Given the description of an element on the screen output the (x, y) to click on. 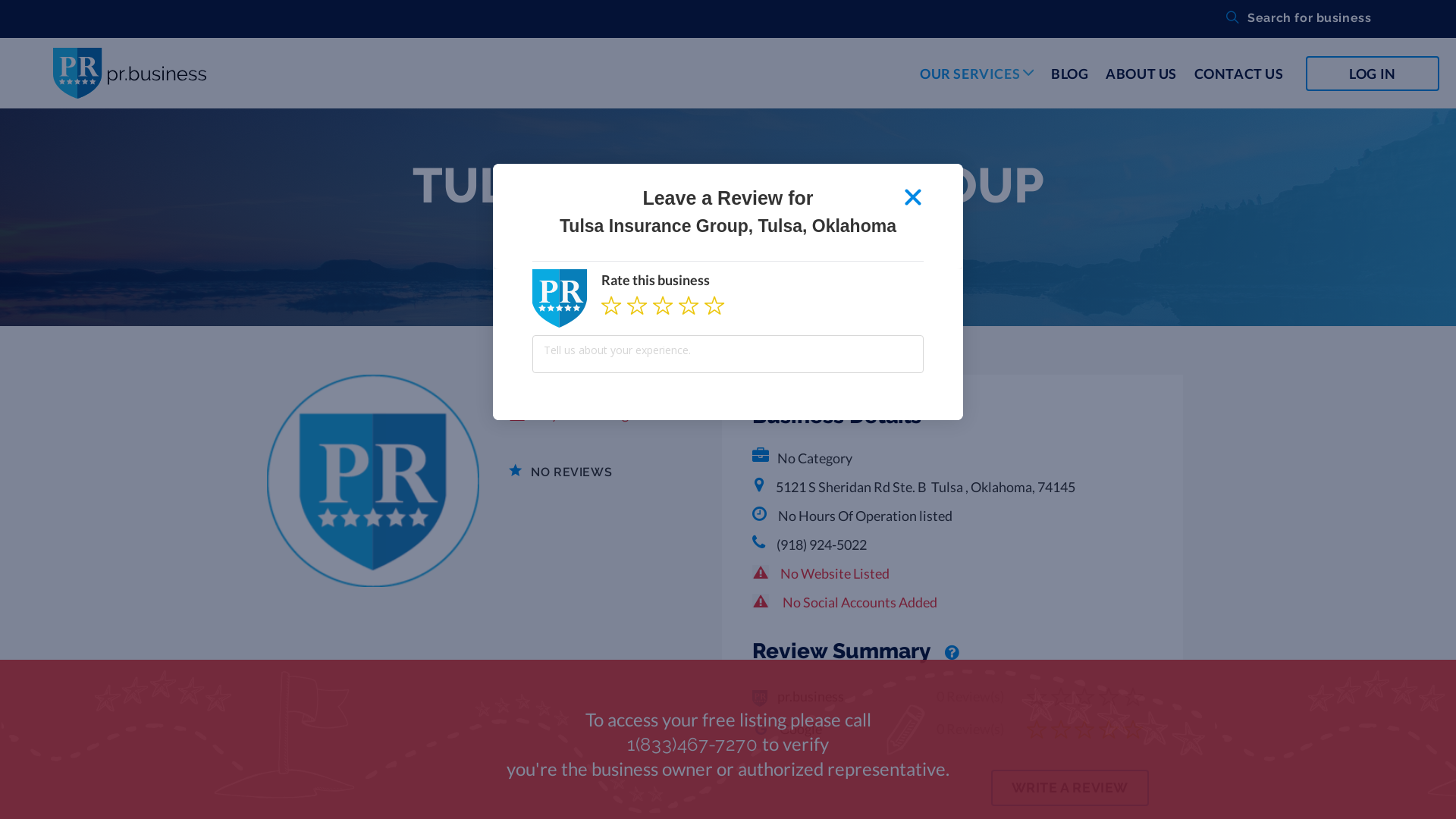
ABOUT US Element type: text (1140, 73)
WRITE A REVIEW Element type: text (1069, 787)
OUR SERVICES Element type: text (976, 86)
LOG IN Element type: text (1372, 73)
BLOG Element type: text (1069, 73)
1(833)467-7270 Element type: text (692, 744)
Search for business Element type: text (1289, 19)
CONTACT US Element type: text (1238, 73)
WRITE A REVIEW Element type: text (1077, 788)
